Given the description of an element on the screen output the (x, y) to click on. 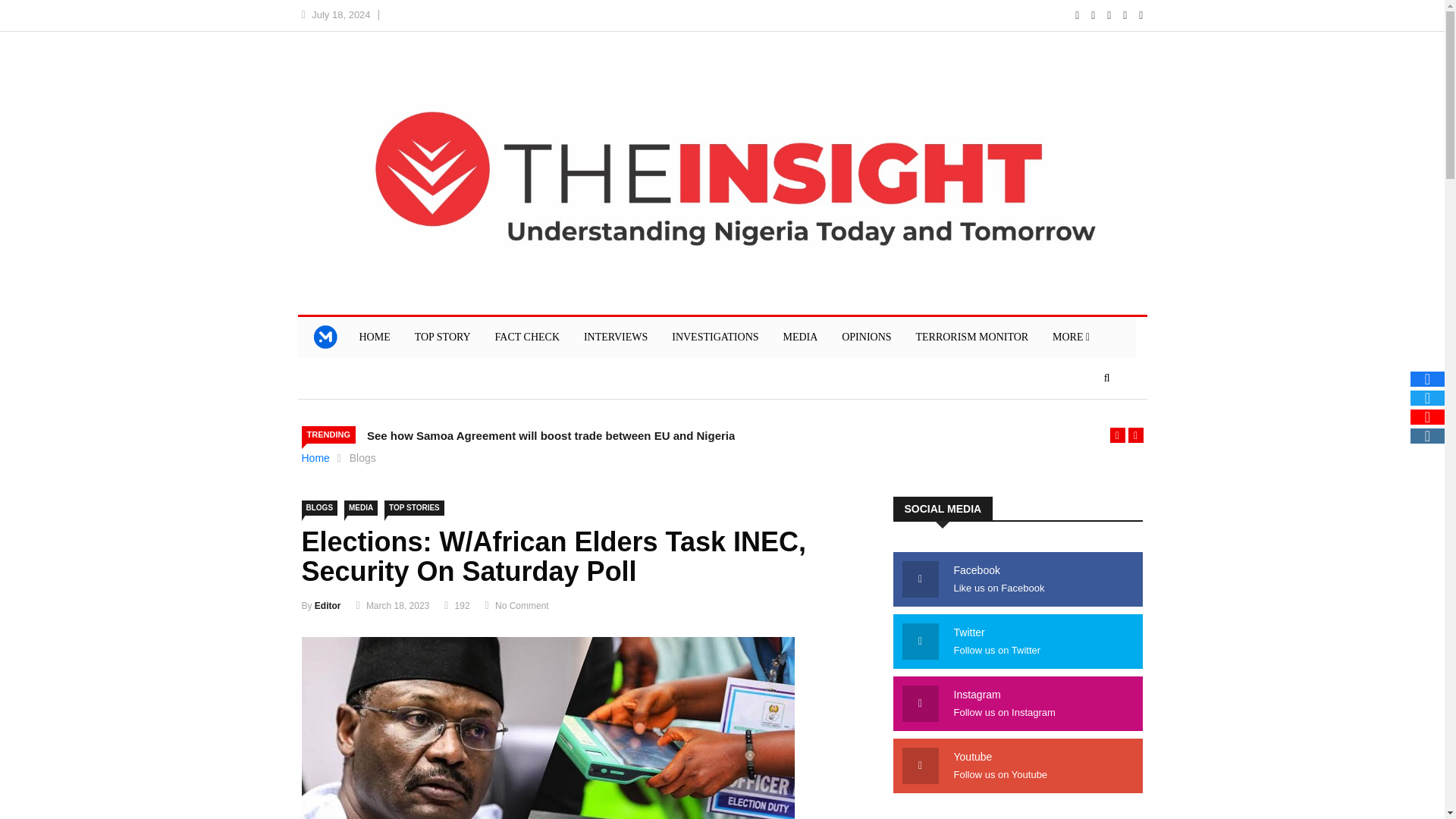
MORE (1071, 336)
INTERVIEWS (615, 336)
OPINIONS (866, 336)
TOP STORY (442, 336)
HOME (375, 336)
TERRORISM MONITOR (971, 336)
MEDIA (360, 507)
Blogs (362, 458)
Editor (327, 605)
Home (315, 458)
INVESTIGATIONS (714, 336)
FACT CHECK (527, 336)
MEDIA (799, 336)
No Comment (521, 605)
